Given the description of an element on the screen output the (x, y) to click on. 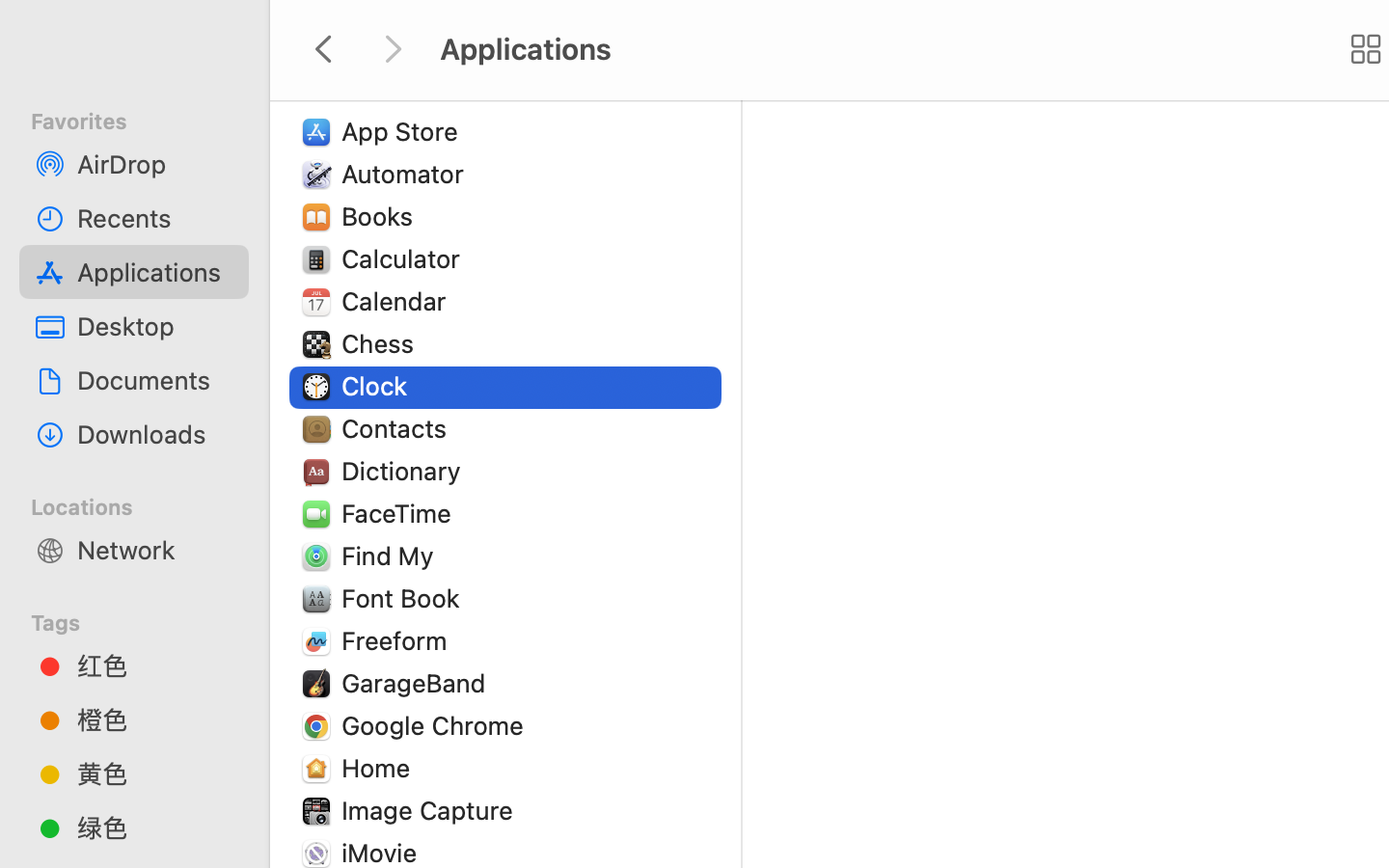
Automator Element type: AXTextField (406, 173)
橙色 Element type: AXStaticText (155, 719)
Downloads Element type: AXStaticText (155, 433)
Google Chrome Element type: AXTextField (436, 724)
GarageBand Element type: AXTextField (417, 682)
